Given the description of an element on the screen output the (x, y) to click on. 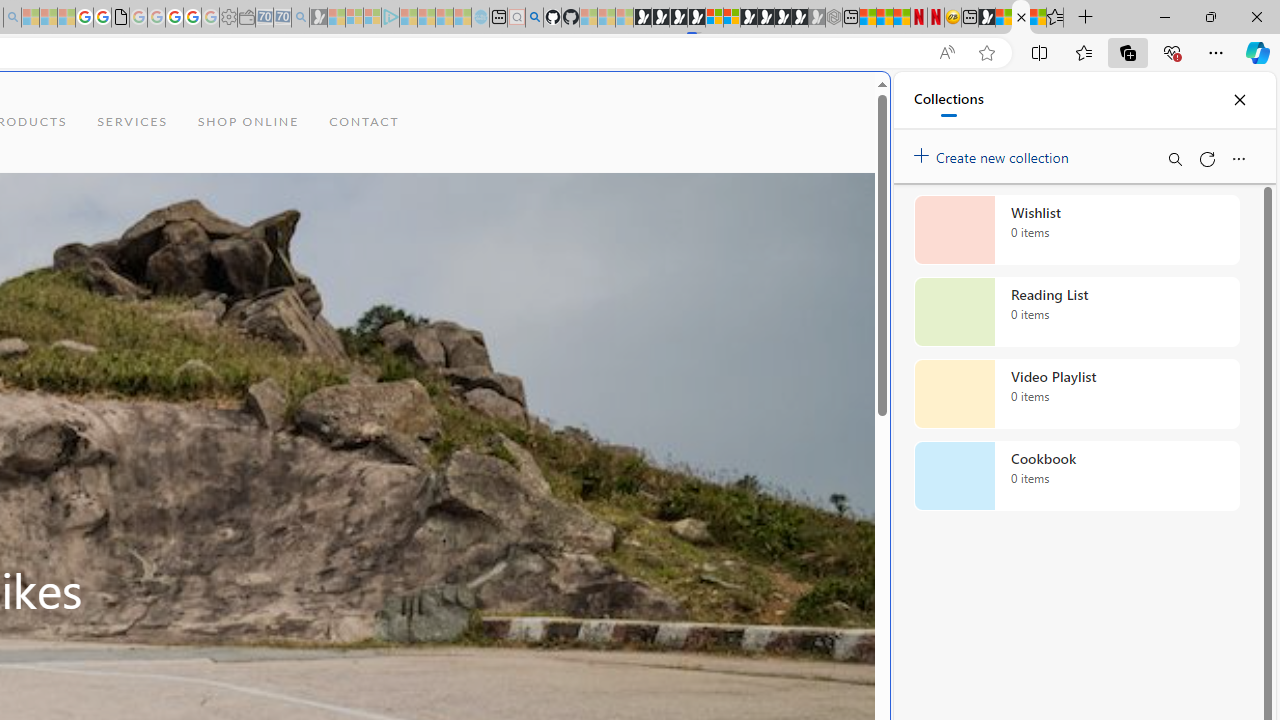
SERVICES (132, 122)
SHOP ONLINE (247, 122)
Tabs you've opened (276, 265)
Video Playlist collection, 0 items (1076, 394)
CONTACT (363, 122)
